Given the description of an element on the screen output the (x, y) to click on. 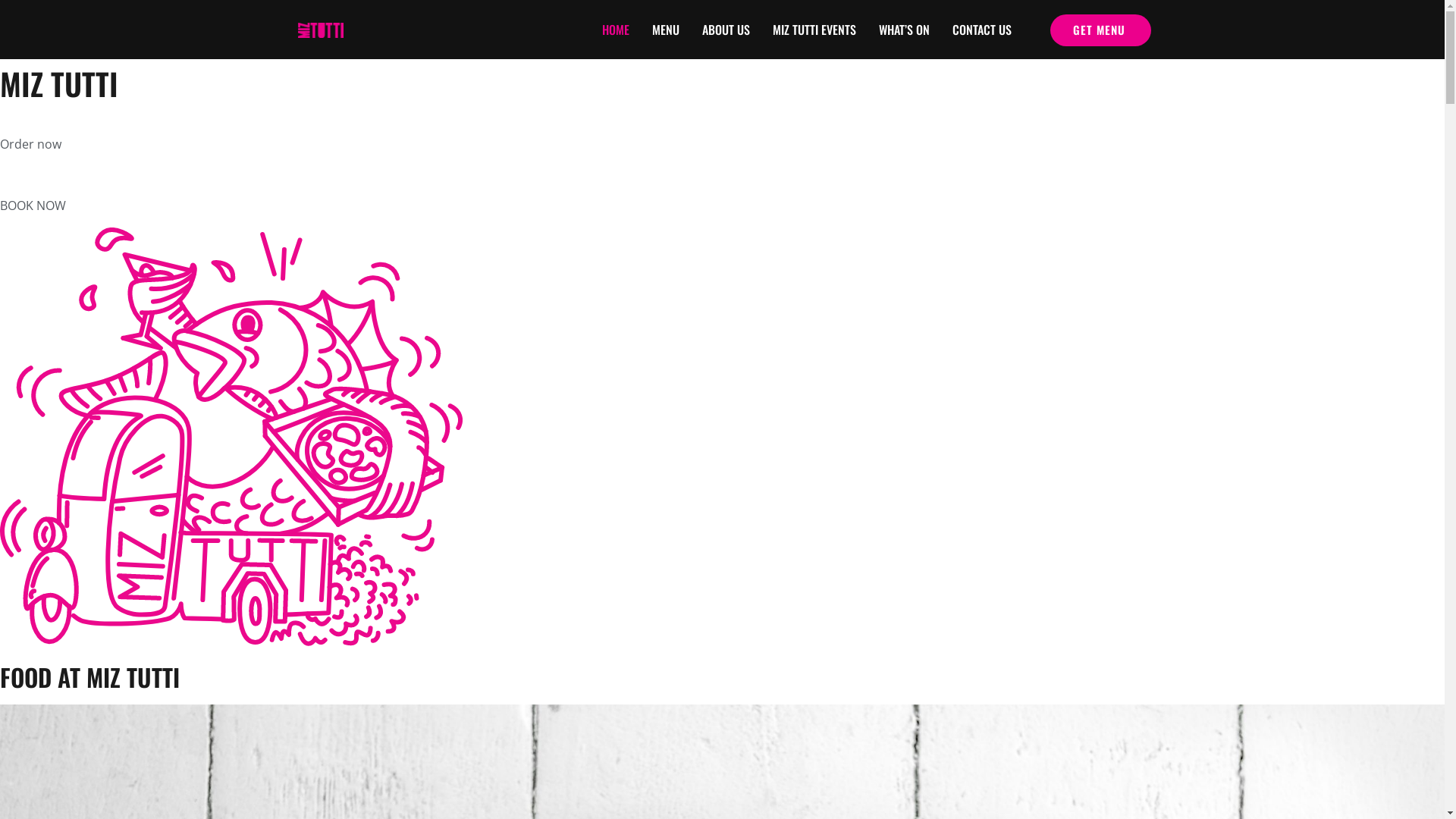
GET MENU Element type: text (1100, 30)
MIZ TUTTI EVENTS Element type: text (814, 29)
ABOUT US Element type: text (725, 29)
Order now Element type: text (30, 153)
MENU Element type: text (665, 29)
BOOK NOW Element type: text (32, 215)
CONTACT US Element type: text (981, 29)
HOME Element type: text (615, 29)
